Given the description of an element on the screen output the (x, y) to click on. 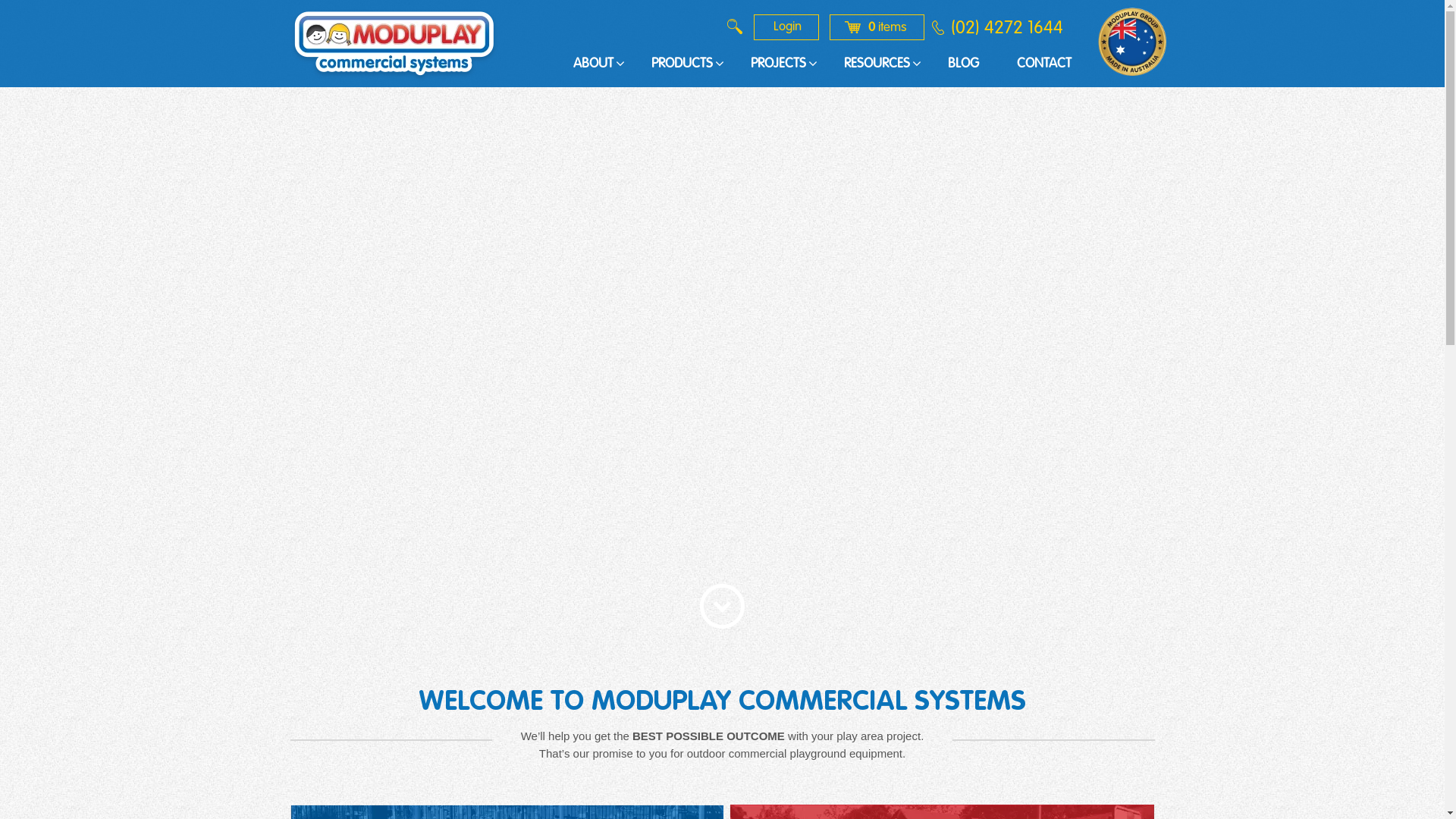
PRODUCTS Element type: text (681, 63)
Wagga Boat Element type: hover (722, 322)
ABOUT Element type: text (592, 63)
RESOURCES Element type: text (876, 63)
BLOG Element type: text (962, 63)
Go Element type: text (722, 606)
Login Element type: text (785, 27)
CONTACT Element type: text (1043, 63)
(02) 4272 1644 Element type: text (1005, 27)
PROJECTS Element type: text (777, 63)
